Given the description of an element on the screen output the (x, y) to click on. 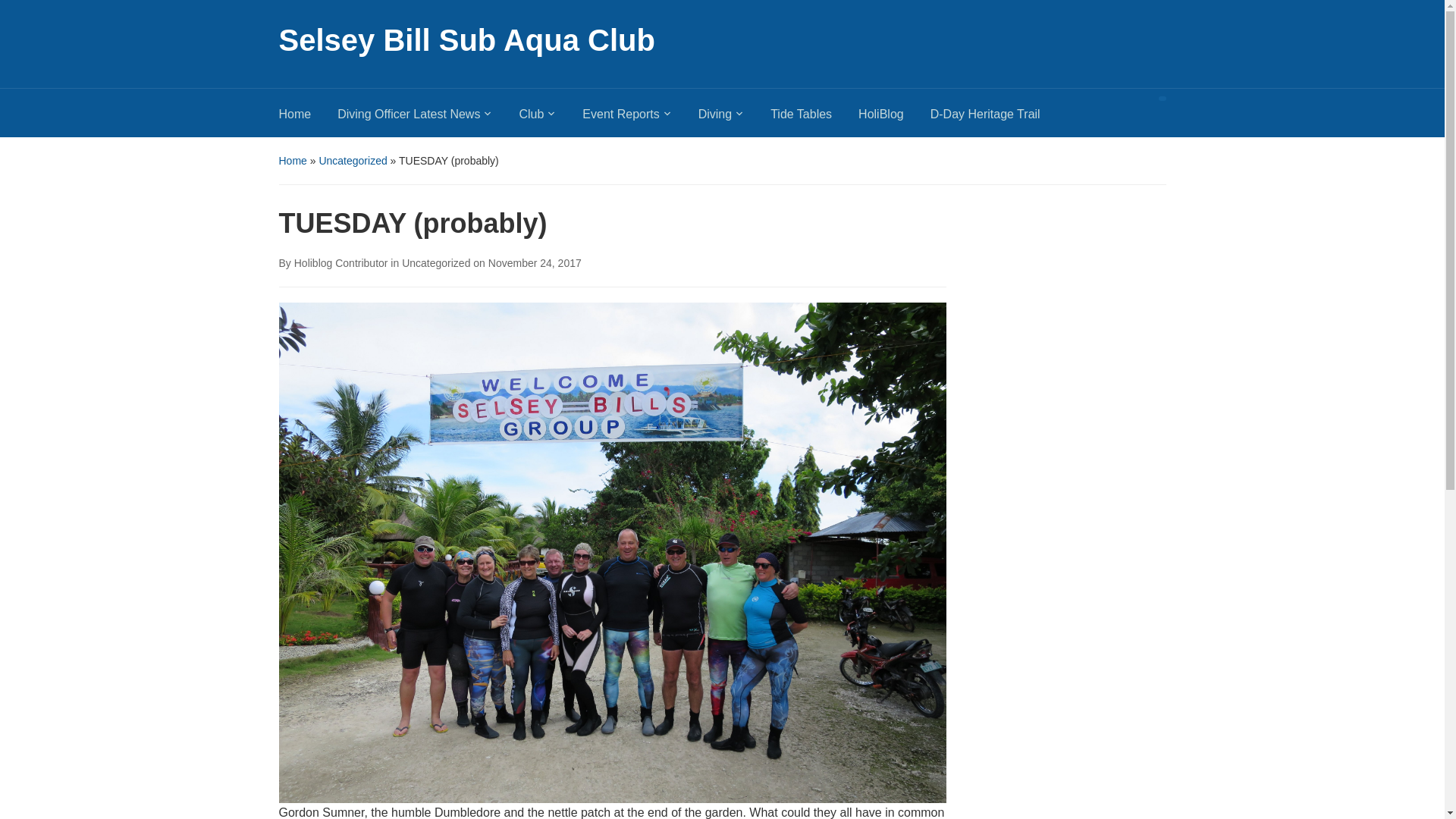
Home (308, 118)
Selsey Bill Sub Aqua Club -  (467, 39)
Diving Officer Latest News (427, 118)
View all posts by Holiblog Contributor (341, 263)
Selsey Bill Sub Aqua Club (467, 39)
12:51 am (533, 263)
